Given the description of an element on the screen output the (x, y) to click on. 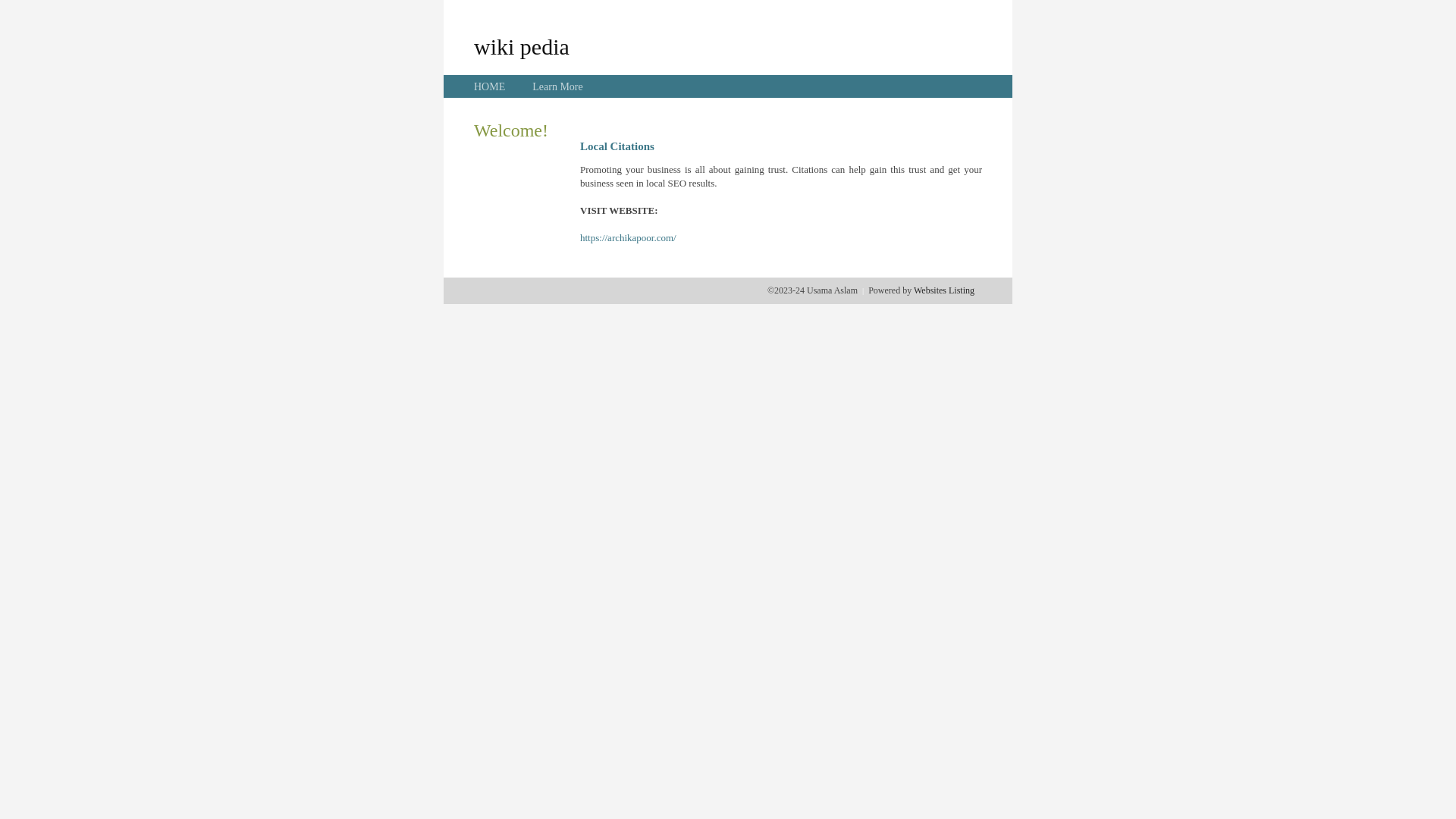
https://archikapoor.com/ Element type: text (628, 237)
wiki pedia Element type: text (521, 46)
Websites Listing Element type: text (943, 290)
Learn More Element type: text (557, 86)
HOME Element type: text (489, 86)
